Given the description of an element on the screen output the (x, y) to click on. 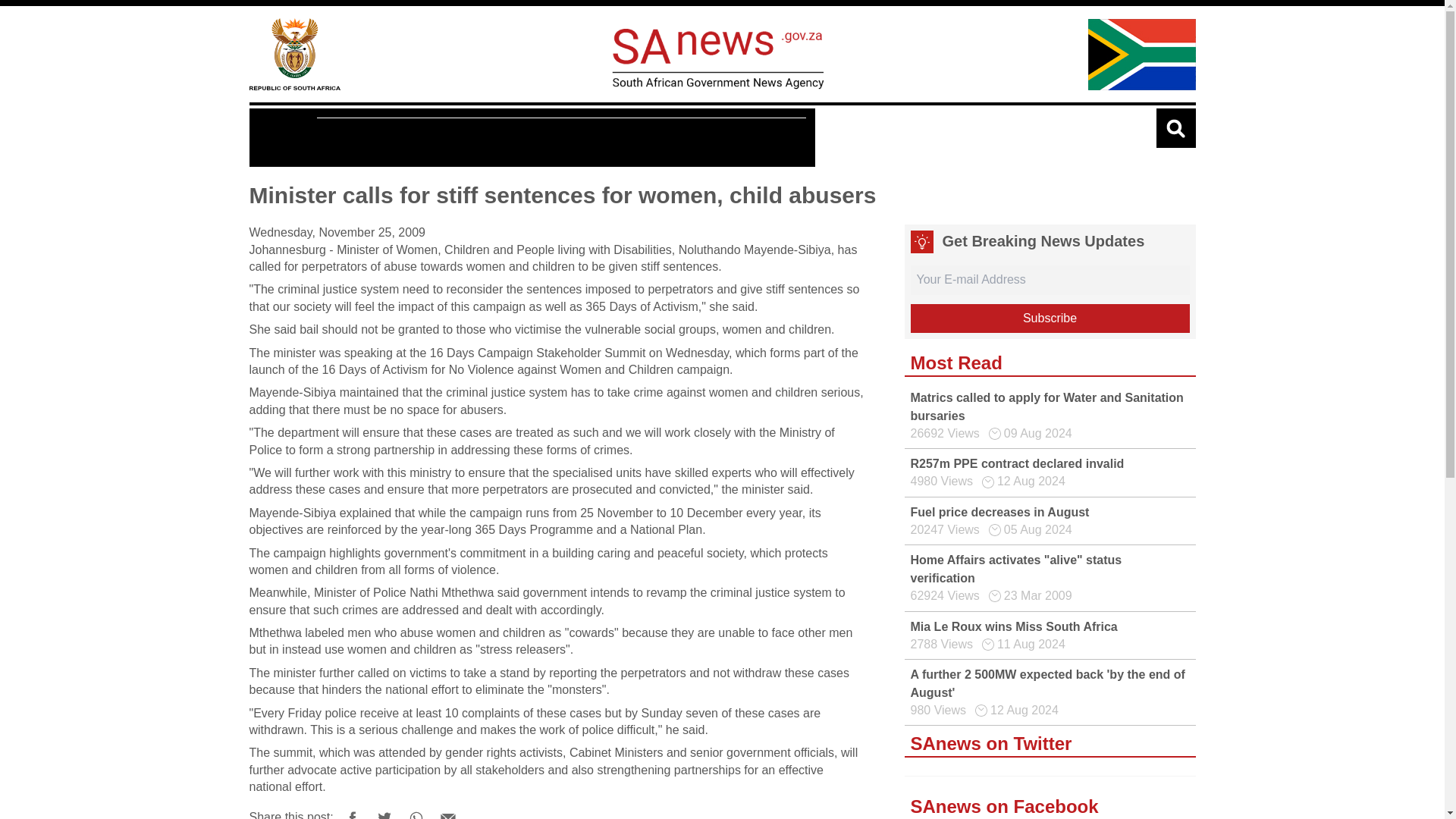
Home (293, 54)
Matrics called to apply for Water and Sanitation bursaries (1046, 406)
Home Affairs activates "alive" status verification (1015, 568)
Fuel price decreases in August (999, 512)
Mia Le Roux wins Miss South Africa (1013, 626)
R257m PPE contract declared invalid (1017, 463)
Subscribe (1049, 317)
A further 2 500MW expected back 'by the end of August' (1047, 683)
Multimedia (439, 137)
Share on WhatsApp (416, 810)
